Given the description of an element on the screen output the (x, y) to click on. 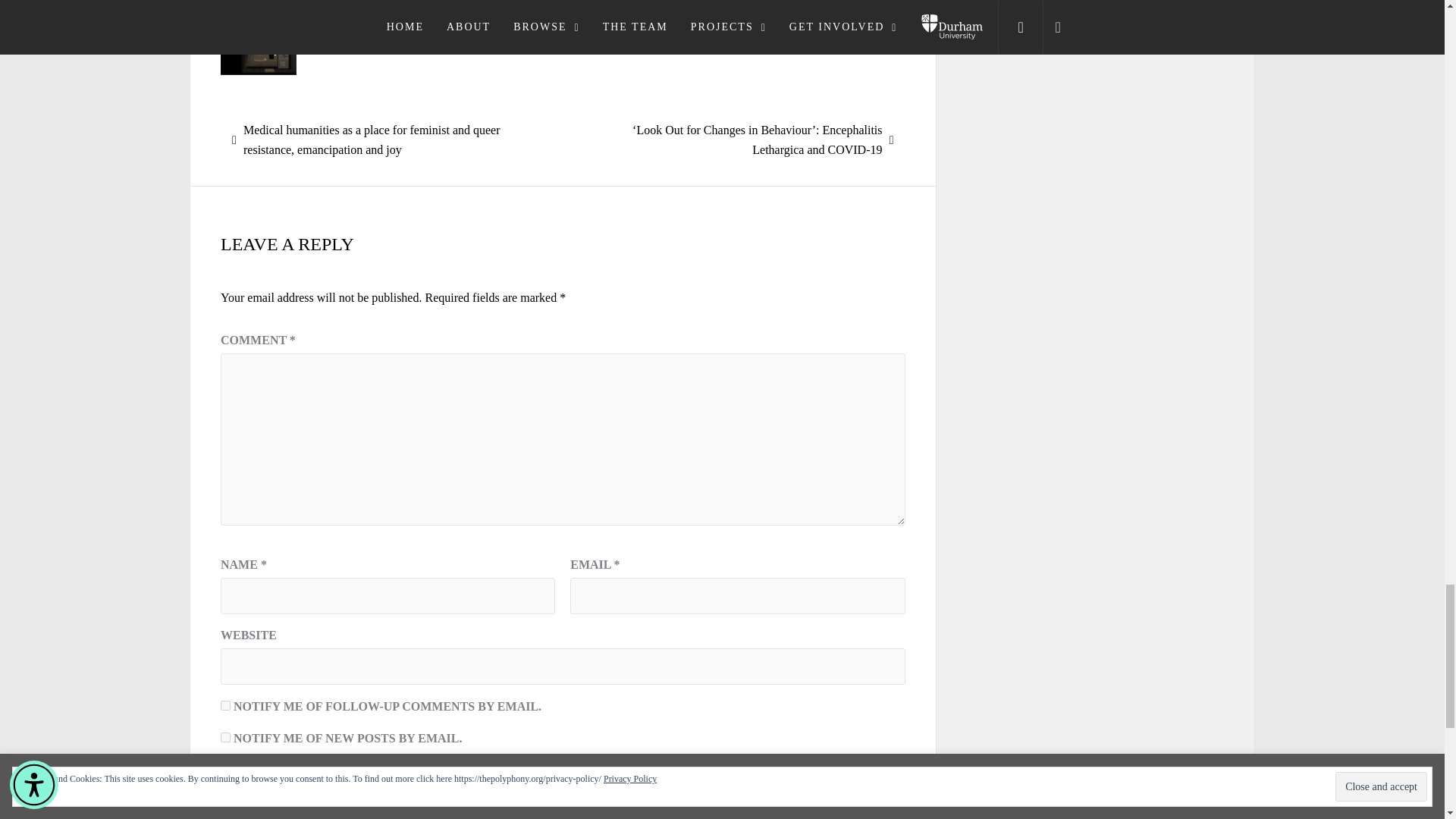
subscribe (225, 705)
Post Comment (288, 792)
subscribe (225, 737)
